Given the description of an element on the screen output the (x, y) to click on. 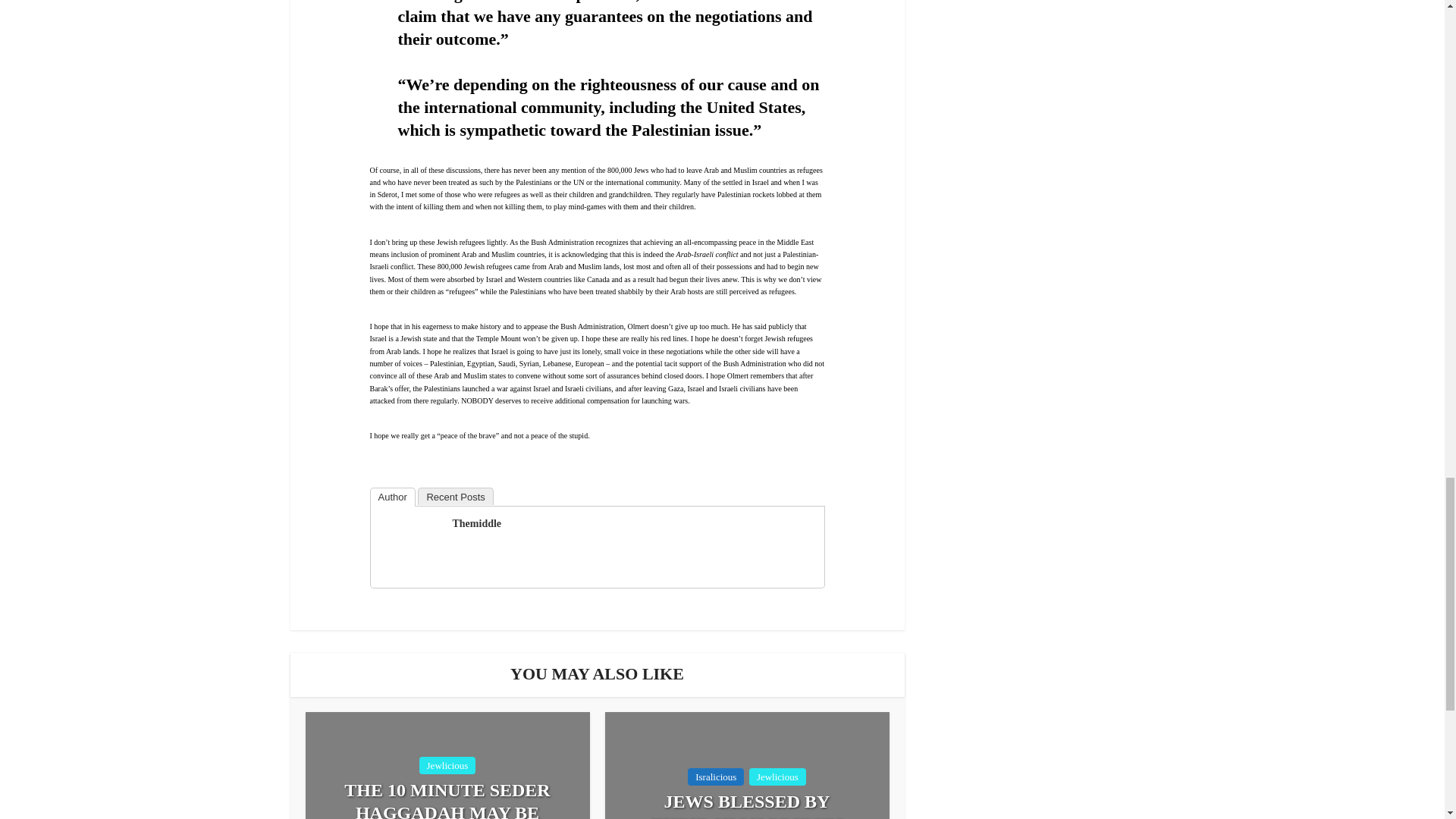
THE 10 MINUTE SEDER HAGGADAH MAY BE JUST WANT YOUR NEED (446, 798)
Themiddle (475, 523)
Jewlicious (447, 764)
themiddle (408, 544)
Isralicious (715, 776)
JEWS BLESSED BY THEIR HIGH PRIESTS (747, 804)
Recent Posts (455, 496)
Jews Blessed by their High Priests (747, 804)
Author (391, 496)
The 10 Minute Seder Haggadah May Be Just Want Your Need (446, 798)
